Given the description of an element on the screen output the (x, y) to click on. 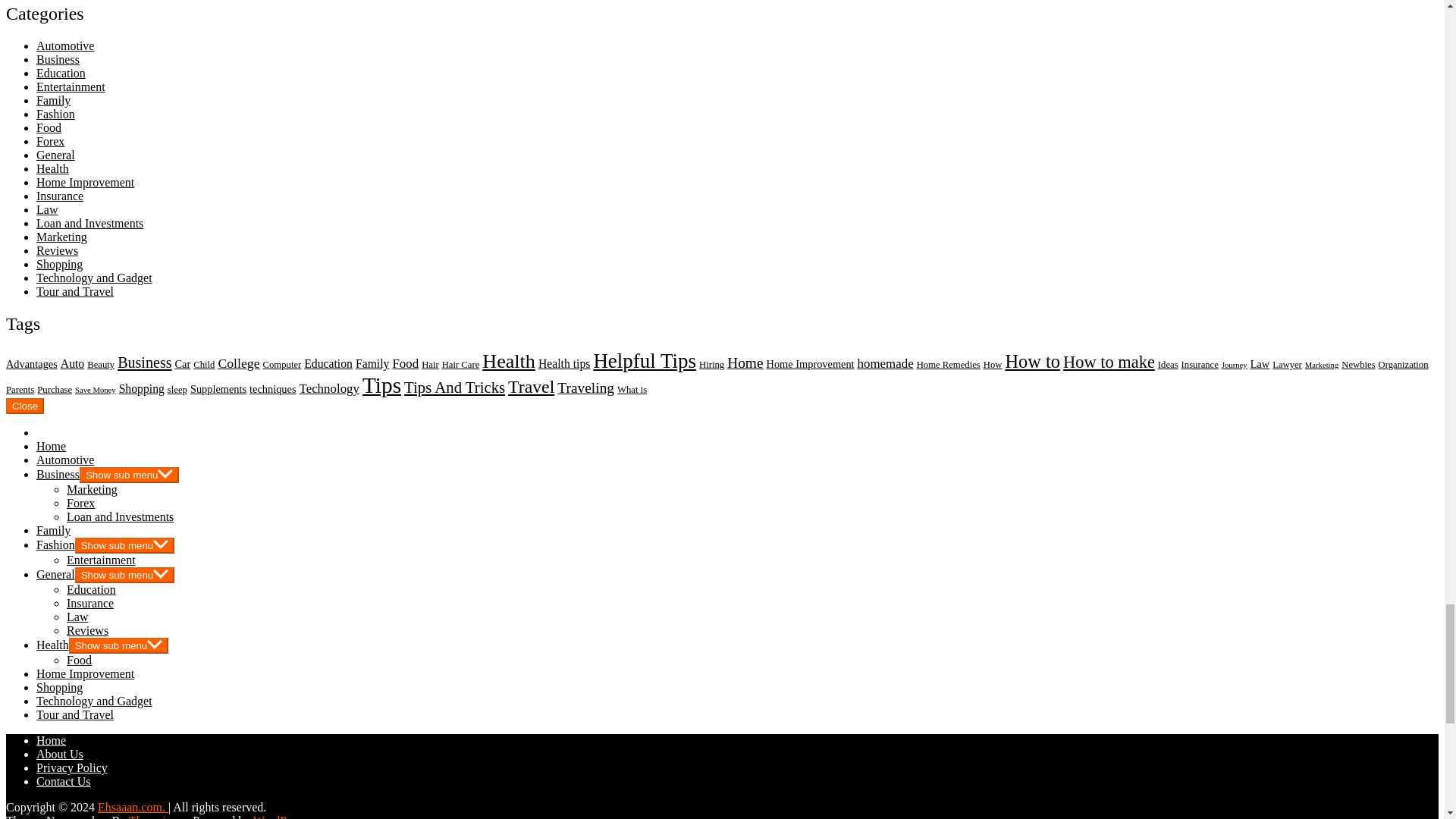
Themeinwp (160, 816)
WordPress (280, 816)
Ehsaaan.com (132, 807)
